Given the description of an element on the screen output the (x, y) to click on. 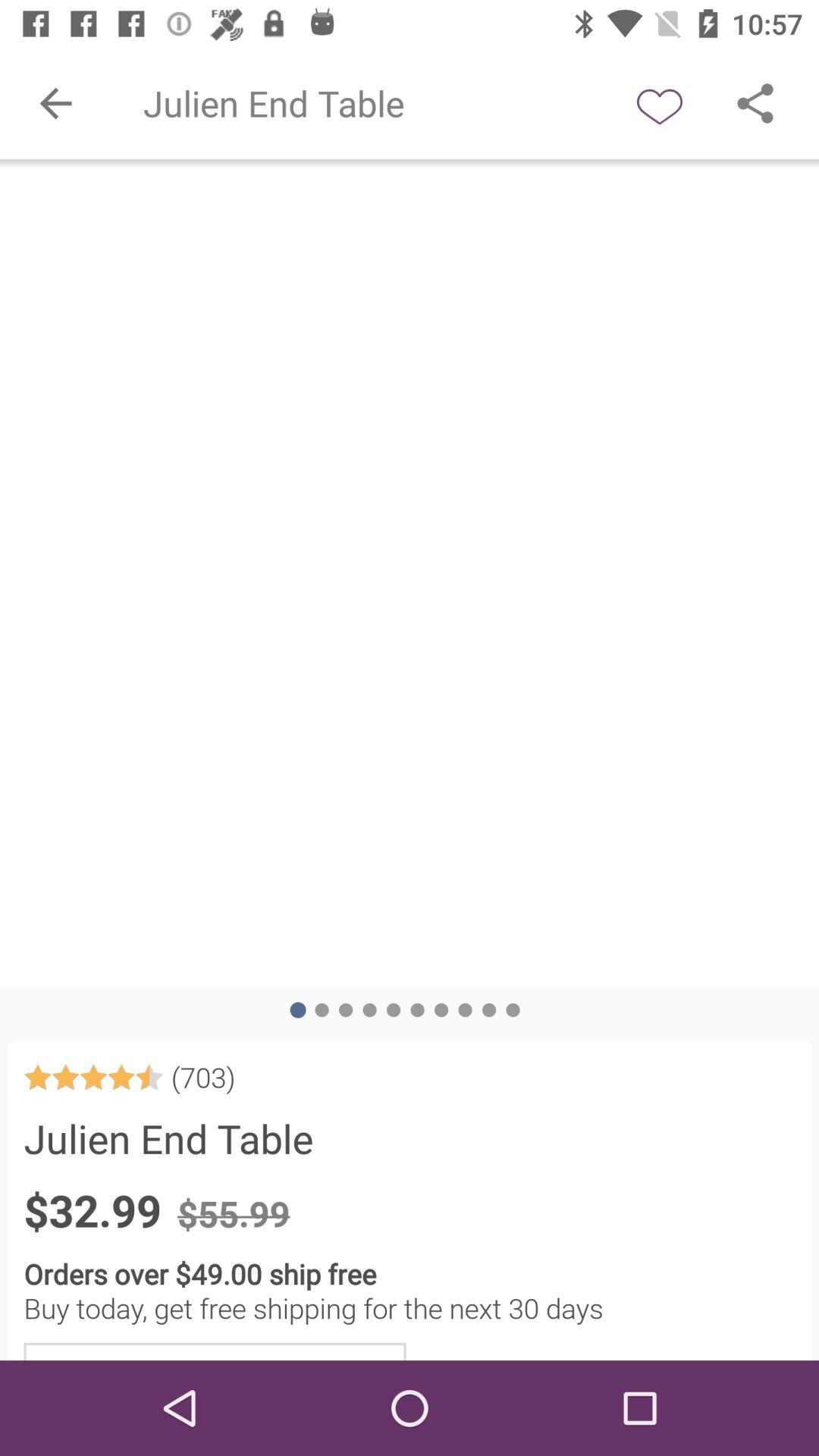
save to favorites (659, 103)
